Given the description of an element on the screen output the (x, y) to click on. 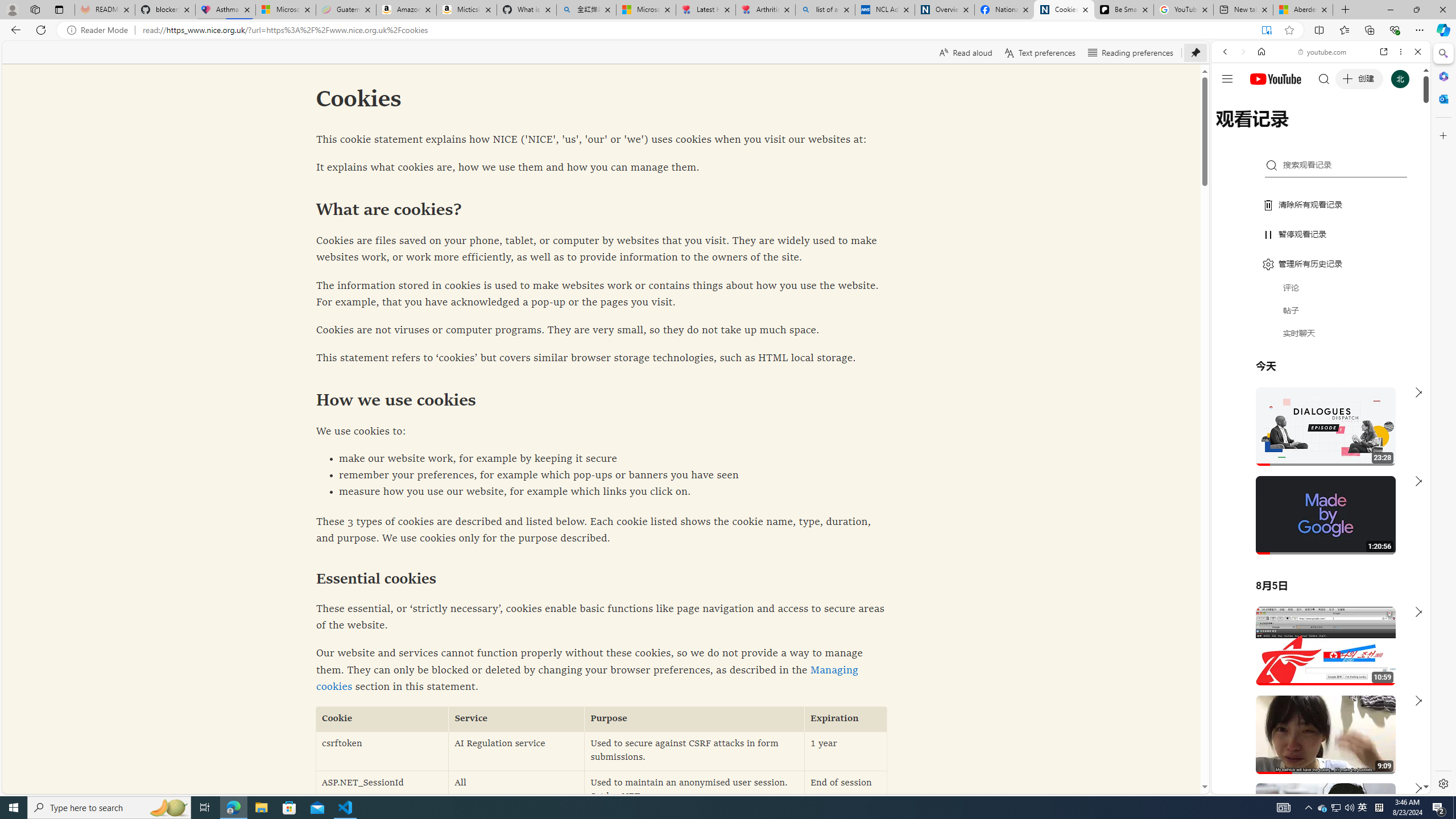
Managing cookies (586, 678)
